Given the description of an element on the screen output the (x, y) to click on. 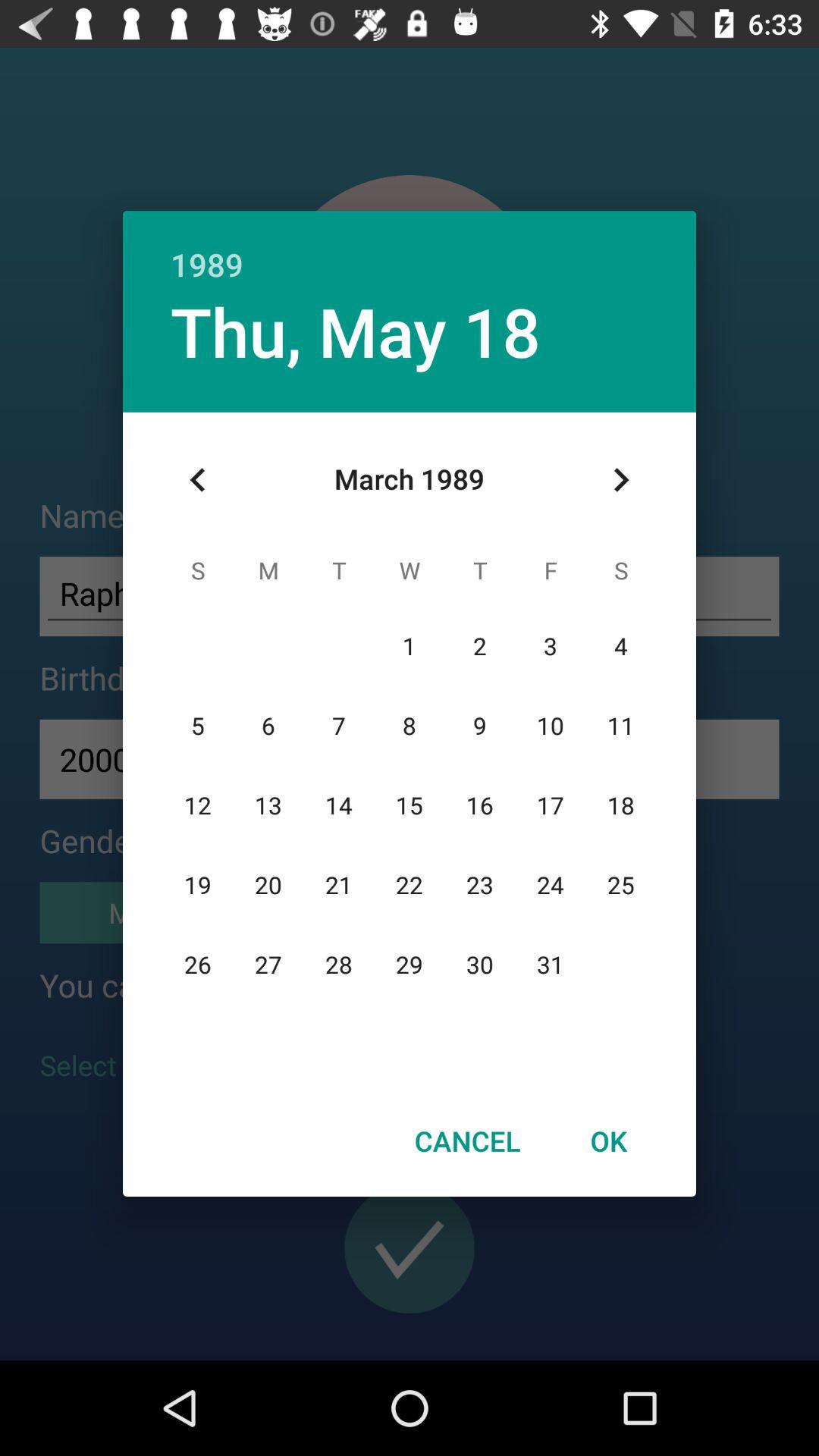
launch icon at the top right corner (620, 479)
